Given the description of an element on the screen output the (x, y) to click on. 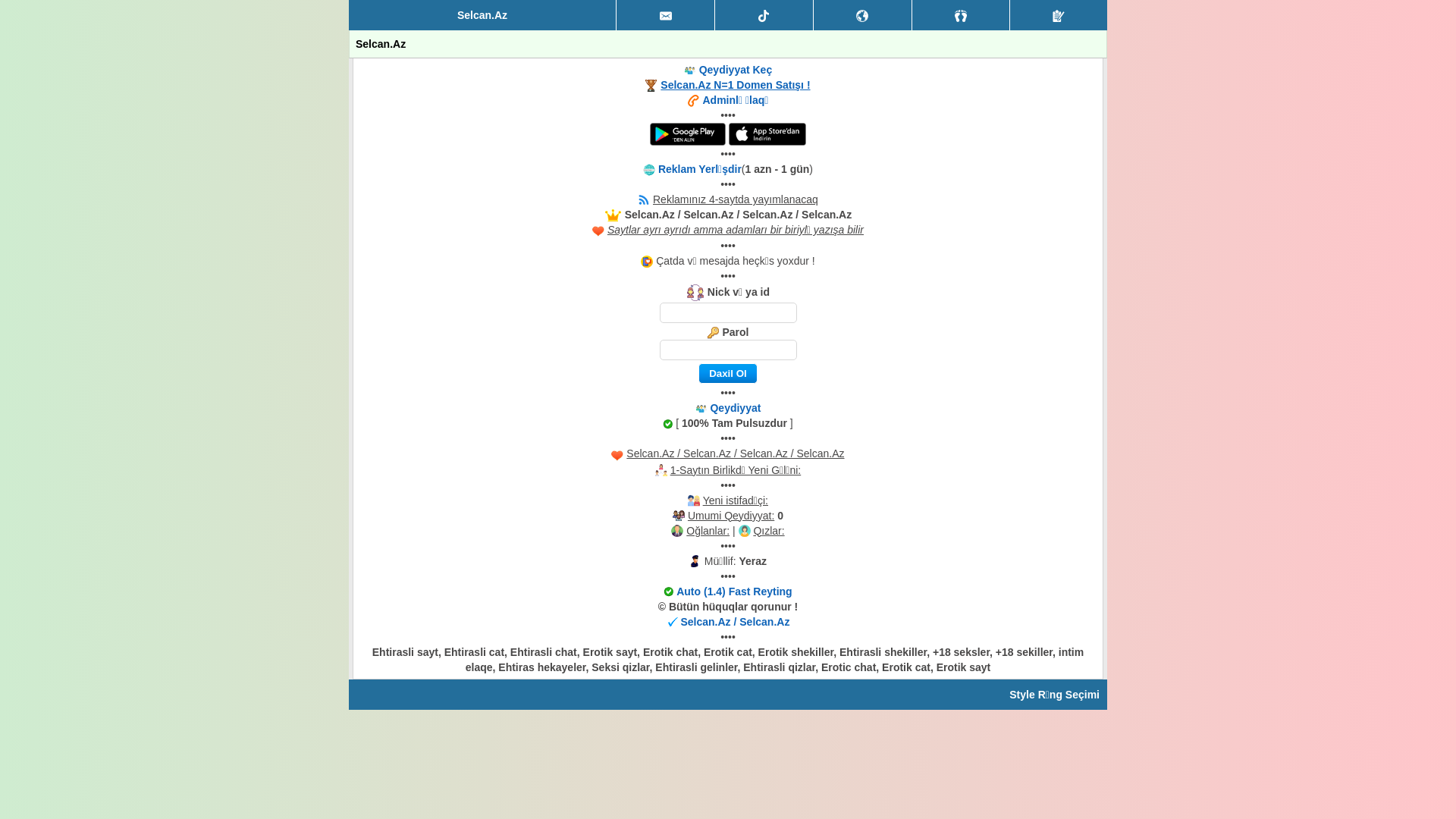
Tiktok Element type: hover (763, 15)
Selcan.Az / Selcan.Az Element type: text (734, 621)
Daxil Ol Element type: text (727, 373)
Qonaqlar Element type: hover (961, 15)
Qeydiyyat Element type: text (734, 407)
Bildirisler Element type: hover (862, 15)
Mesajlar Element type: hover (665, 15)
Parol Element type: hover (728, 349)
Qeydiyyat Element type: hover (1058, 15)
Auto (1.4) Fast Reyting Element type: text (733, 591)
nick Element type: hover (728, 312)
